Given the description of an element on the screen output the (x, y) to click on. 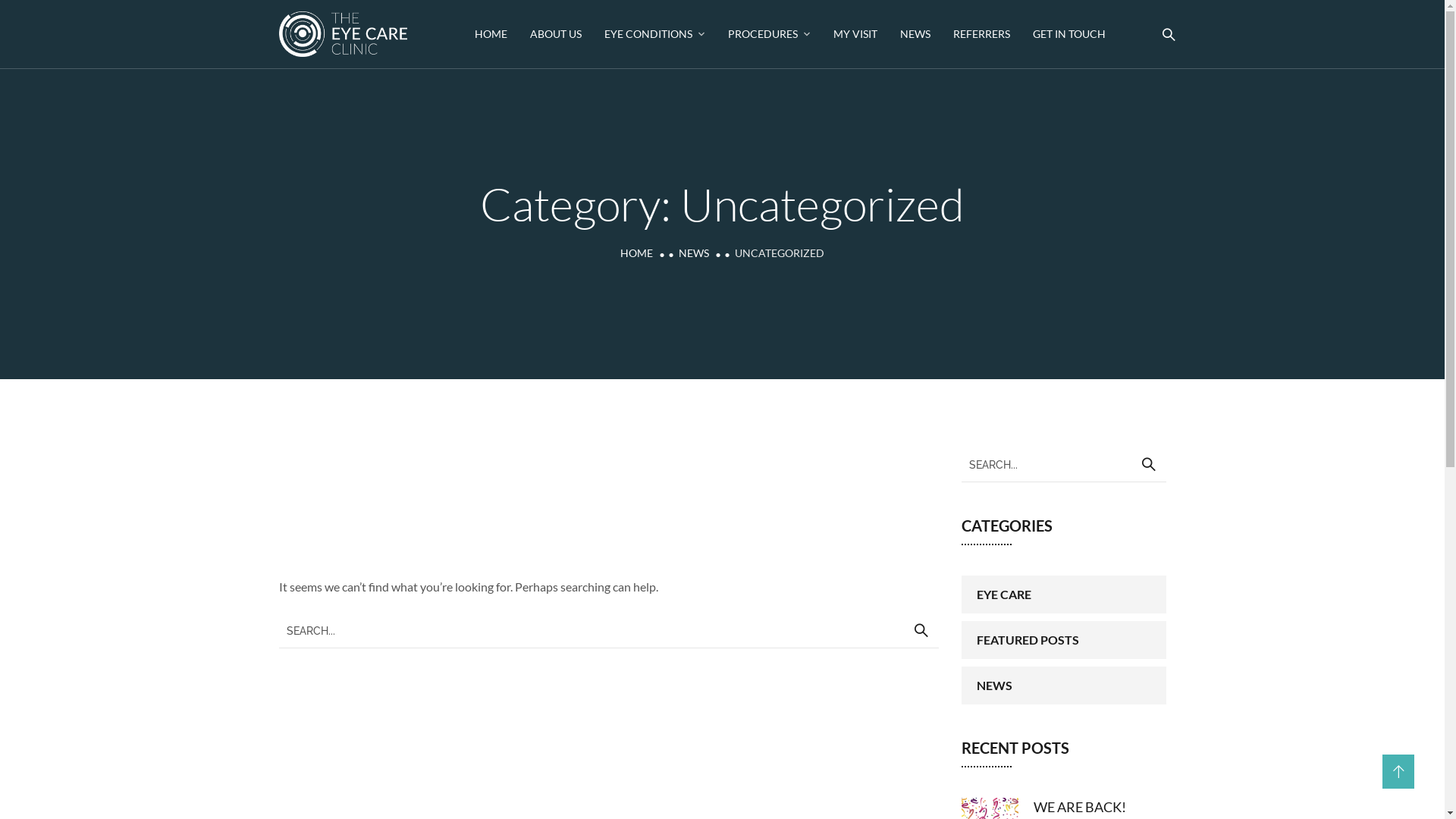
HOME Element type: text (636, 252)
GET IN TOUCH Element type: text (1068, 34)
WE ARE BACK! Element type: text (1078, 806)
EYE CARE Element type: text (1063, 594)
MY VISIT Element type: text (855, 34)
NEWS Element type: text (1063, 685)
NEWS Element type: text (915, 34)
REFERRERS Element type: text (981, 34)
PROCEDURES Element type: text (769, 34)
FEATURED POSTS Element type: text (1063, 639)
HOME Element type: text (490, 34)
NEWS Element type: text (693, 252)
EYE CONDITIONS Element type: text (654, 34)
ABOUT US Element type: text (555, 34)
